Given the description of an element on the screen output the (x, y) to click on. 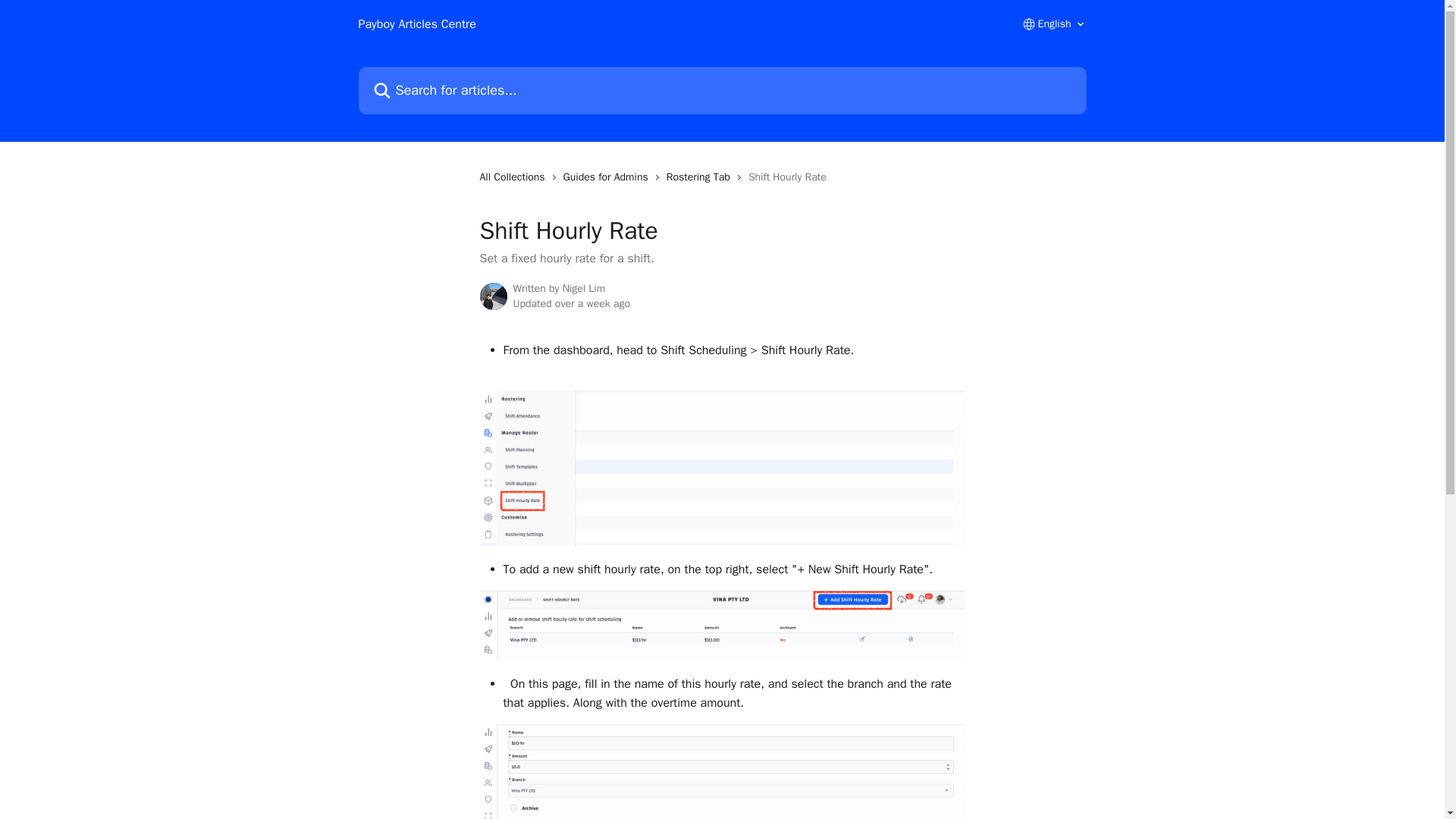
All Collections (514, 176)
Rostering Tab (701, 176)
Guides for Admins (608, 176)
